Given the description of an element on the screen output the (x, y) to click on. 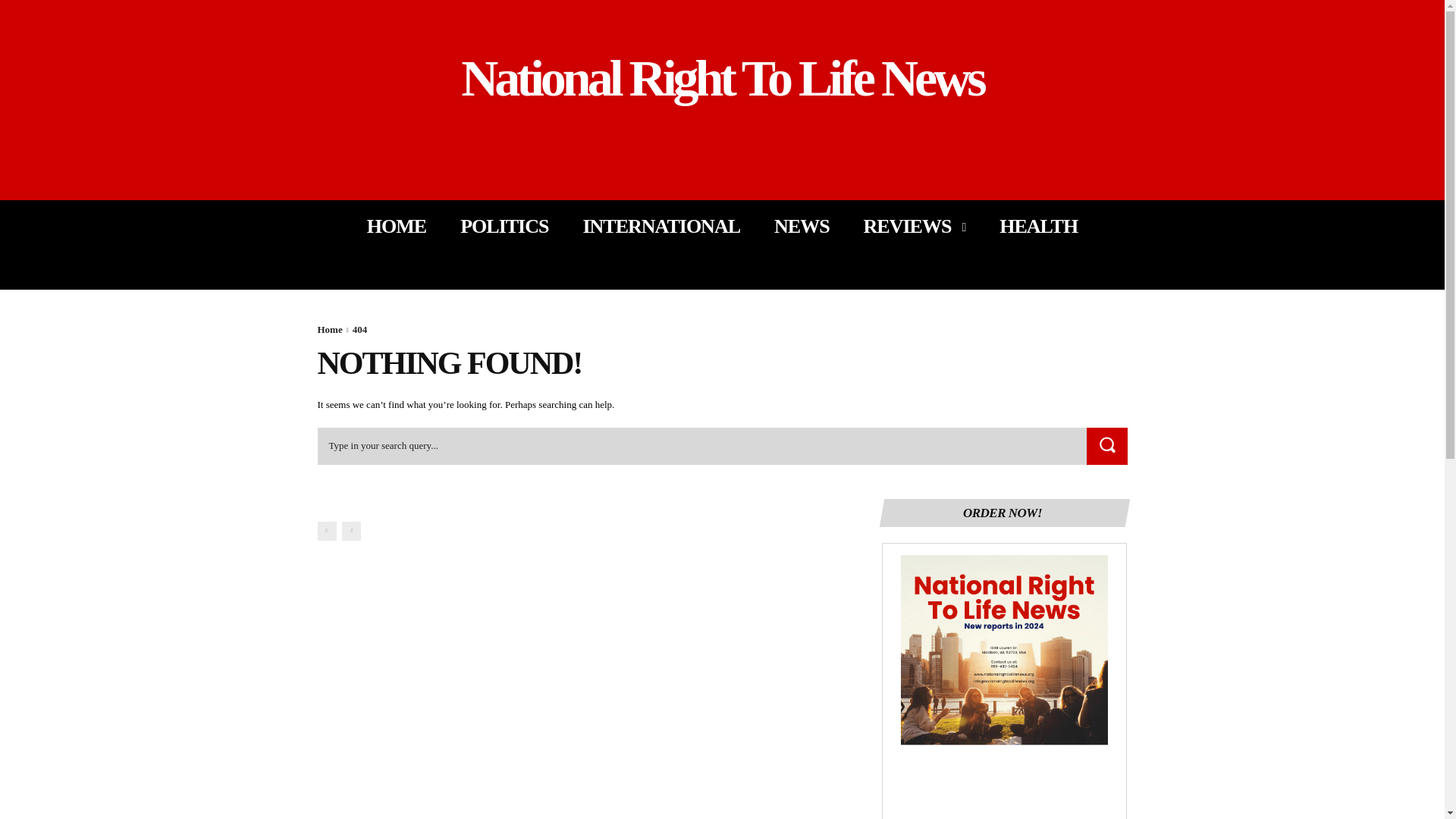
NEWS (801, 226)
National Right To Life News (722, 78)
INTERNATIONAL (660, 226)
HOME (396, 226)
POLITICS (504, 226)
REVIEWS (914, 226)
